Given the description of an element on the screen output the (x, y) to click on. 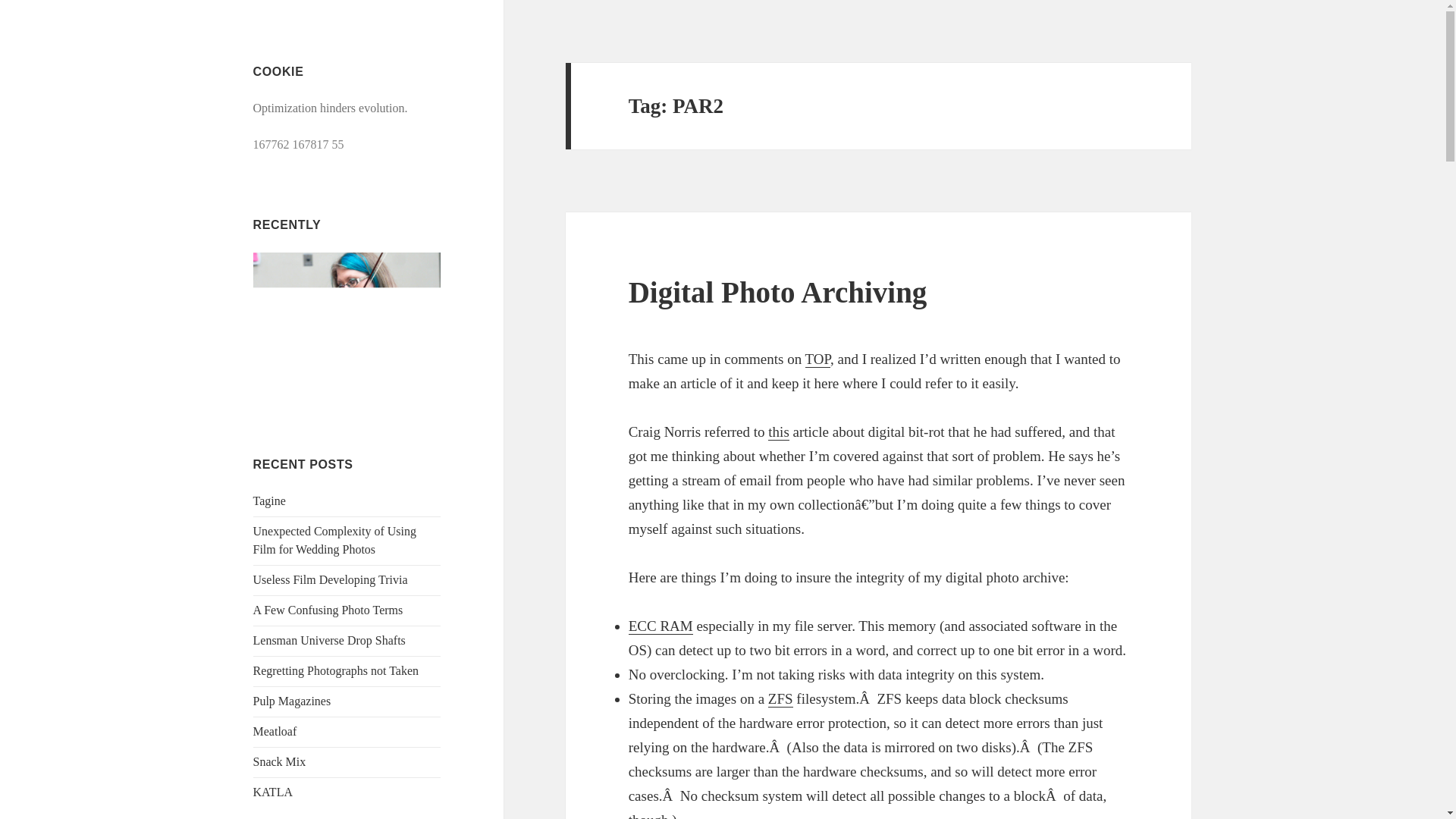
A Few Confusing Photo Terms (328, 609)
Useless Film Developing Trivia (330, 579)
Unexpected Complexity of Using Film for Wedding Photos (334, 540)
Tagine (269, 500)
Pulp Magazines (292, 700)
Meatloaf (275, 730)
Regretting Photographs not Taken (336, 670)
Lensman Universe Drop Shafts (329, 640)
KATLA (272, 791)
Snack Mix (279, 761)
